Given the description of an element on the screen output the (x, y) to click on. 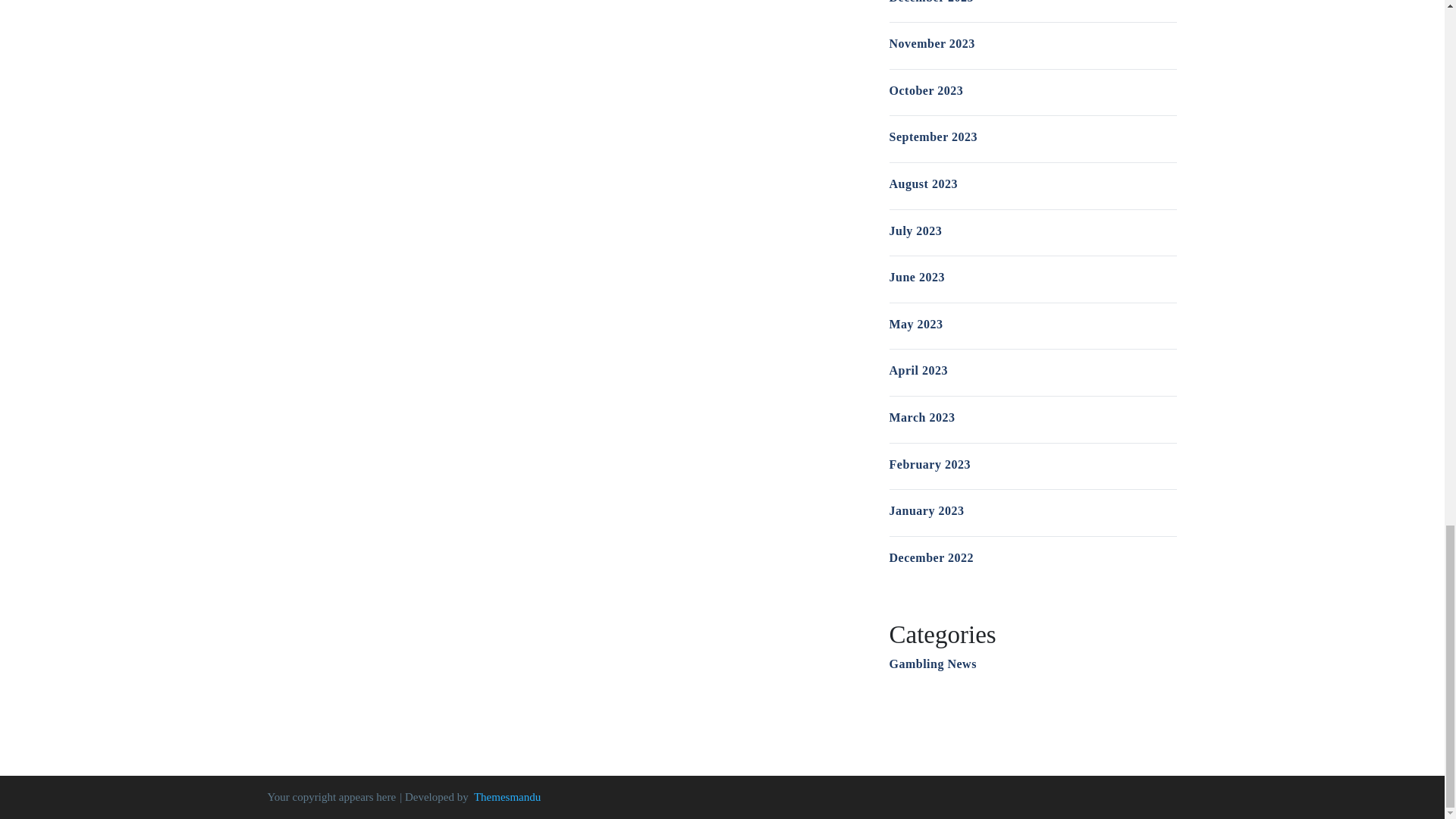
May 2023 (915, 323)
Themesmandu (507, 797)
November 2023 (931, 42)
October 2023 (925, 90)
February 2023 (928, 463)
April 2023 (917, 369)
Gambling News (931, 663)
August 2023 (922, 183)
September 2023 (932, 136)
December 2022 (931, 557)
